Given the description of an element on the screen output the (x, y) to click on. 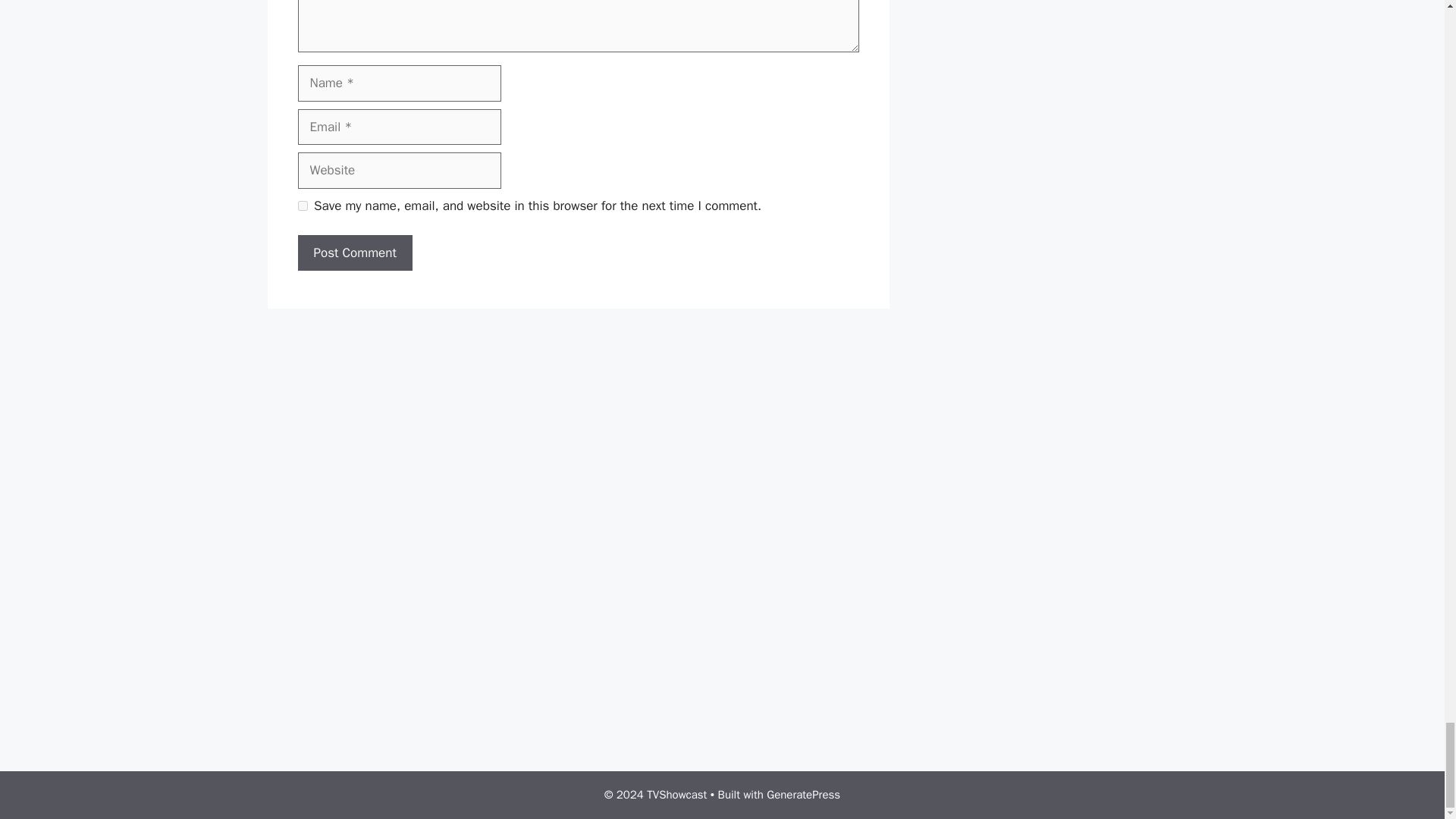
GeneratePress (803, 794)
yes (302, 205)
Post Comment (354, 253)
Post Comment (354, 253)
